Given the description of an element on the screen output the (x, y) to click on. 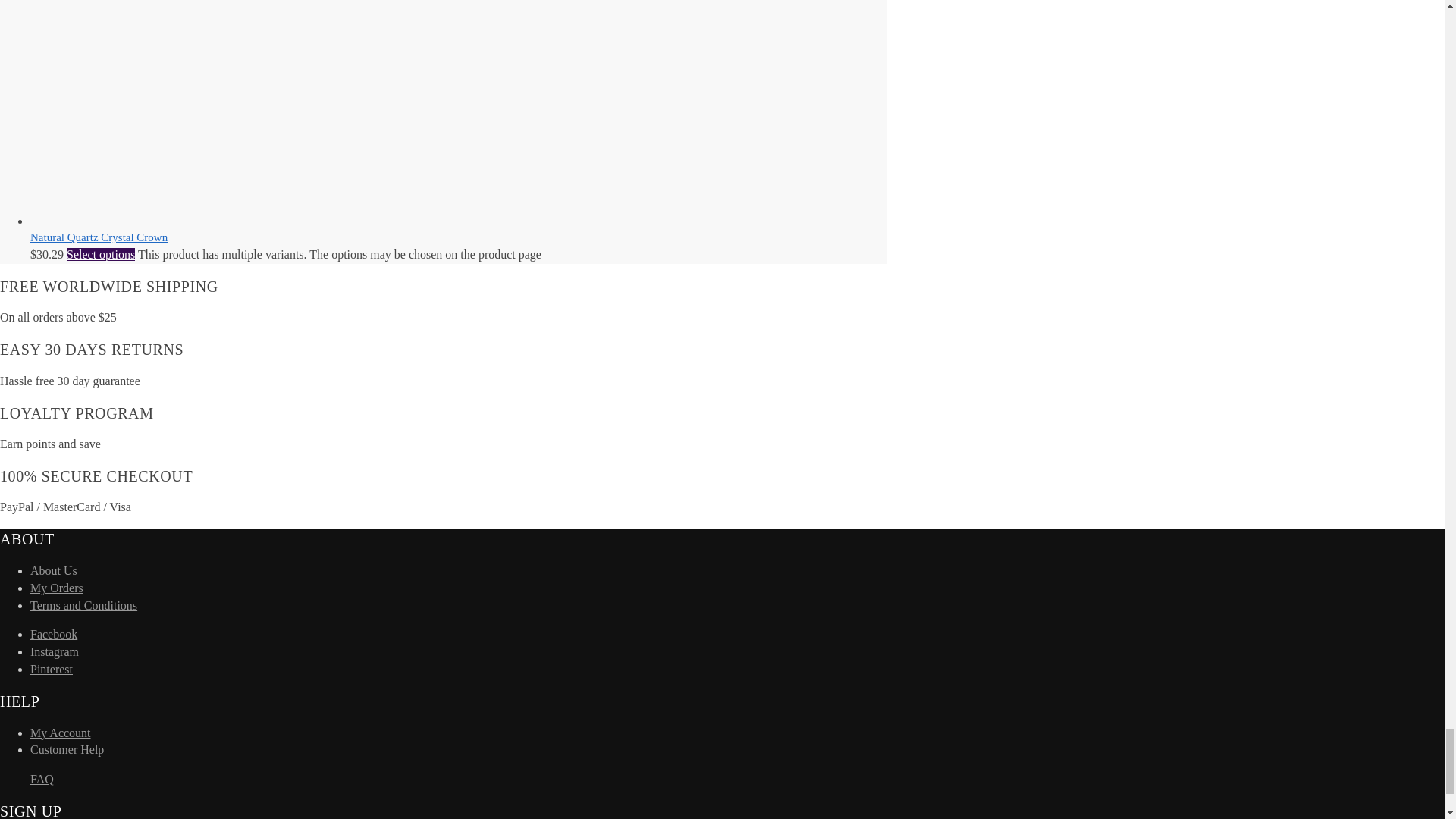
Natural Quartz Crystal Crown (143, 220)
